Given the description of an element on the screen output the (x, y) to click on. 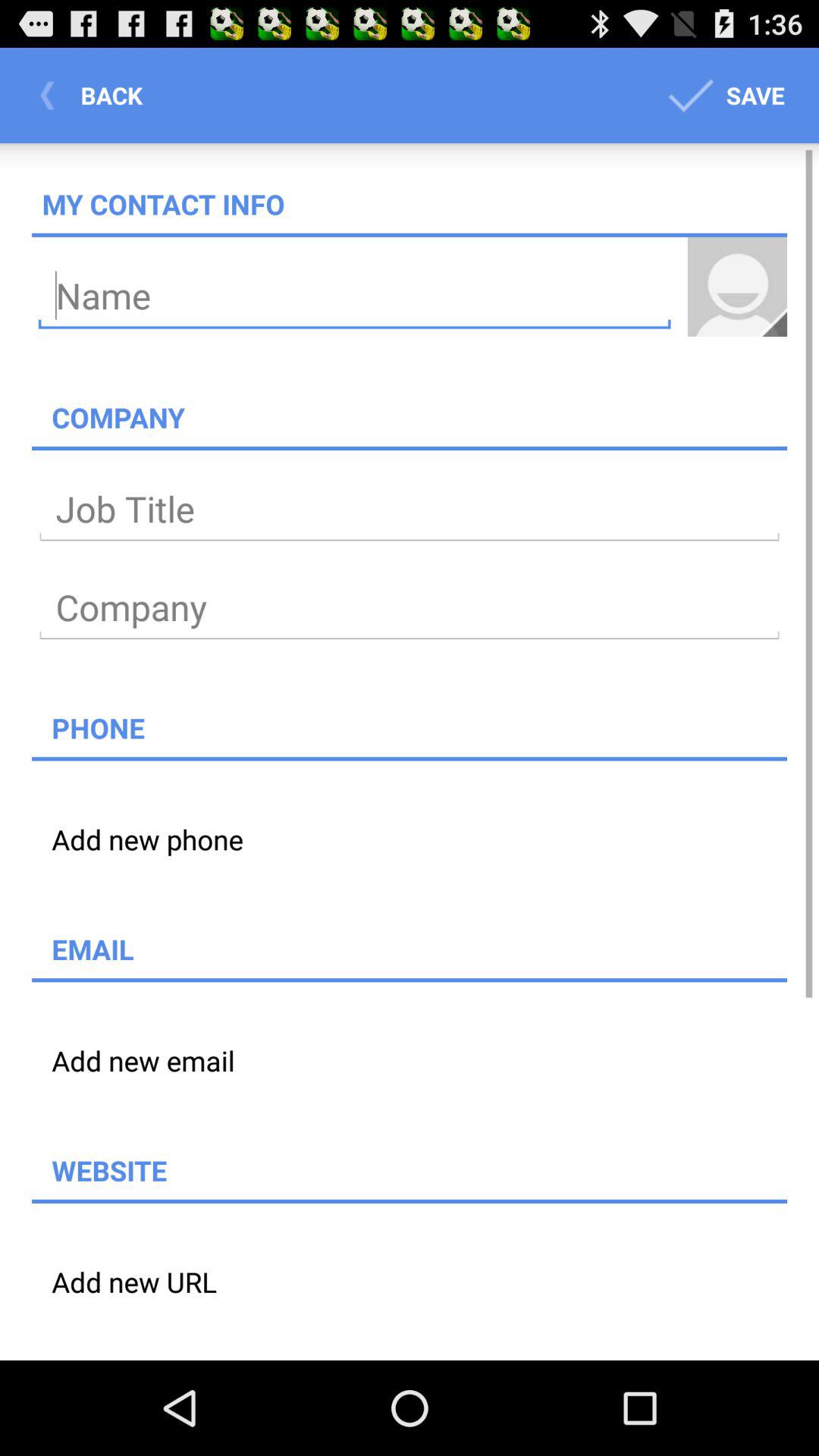
view profile (737, 286)
